Given the description of an element on the screen output the (x, y) to click on. 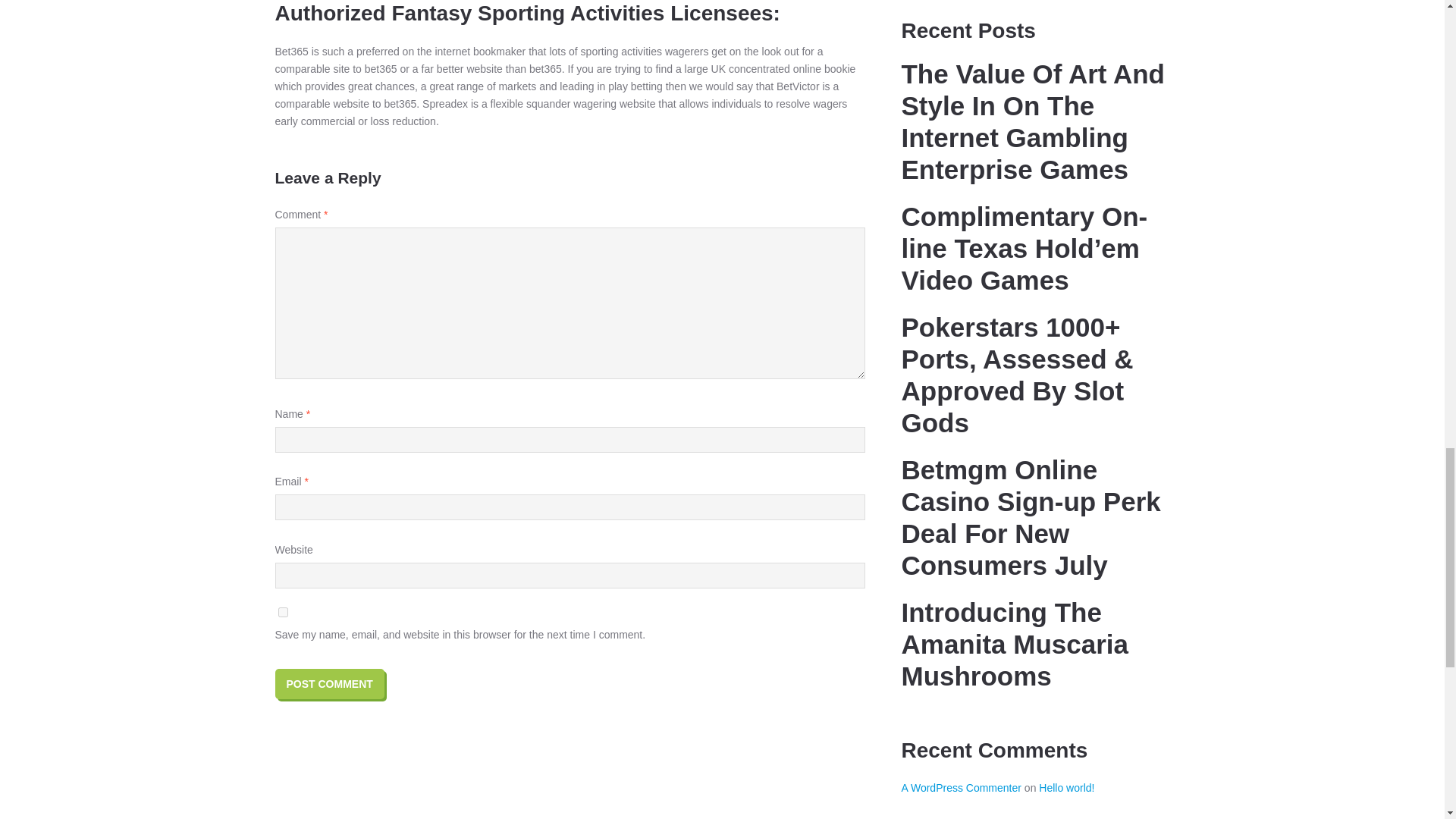
Post Comment (329, 684)
Post Comment (329, 684)
yes (282, 612)
